Given the description of an element on the screen output the (x, y) to click on. 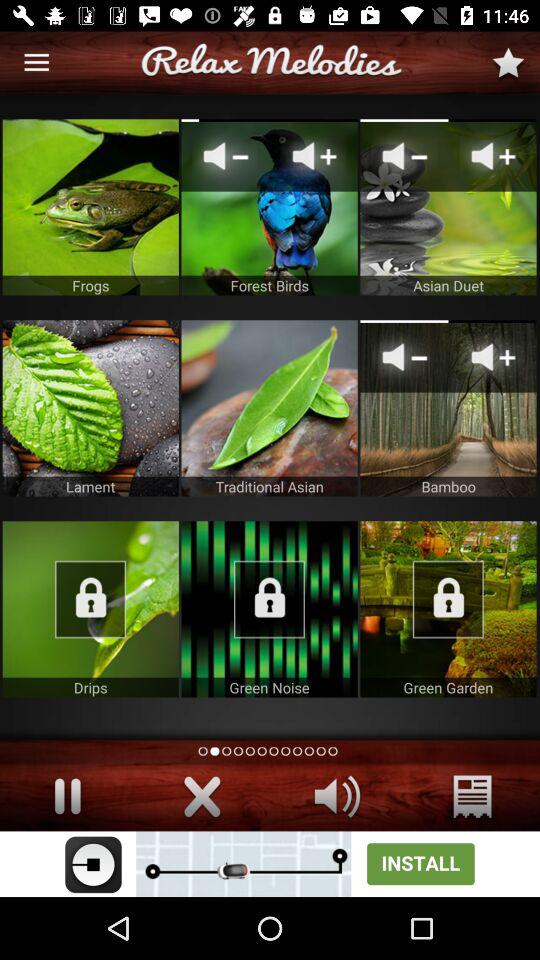
click to the app (448, 609)
